Given the description of an element on the screen output the (x, y) to click on. 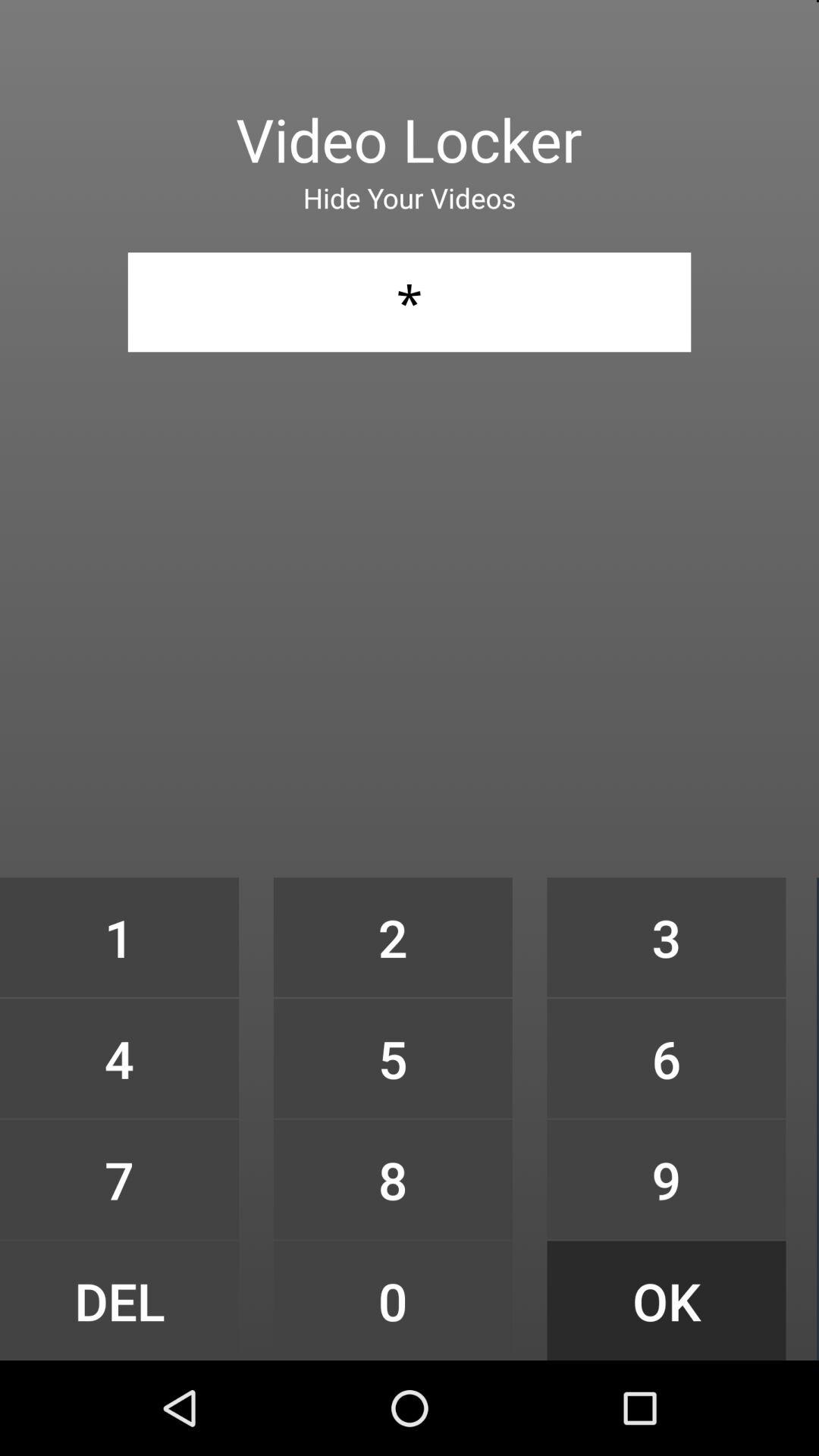
select the item next to 1 item (392, 937)
